Given the description of an element on the screen output the (x, y) to click on. 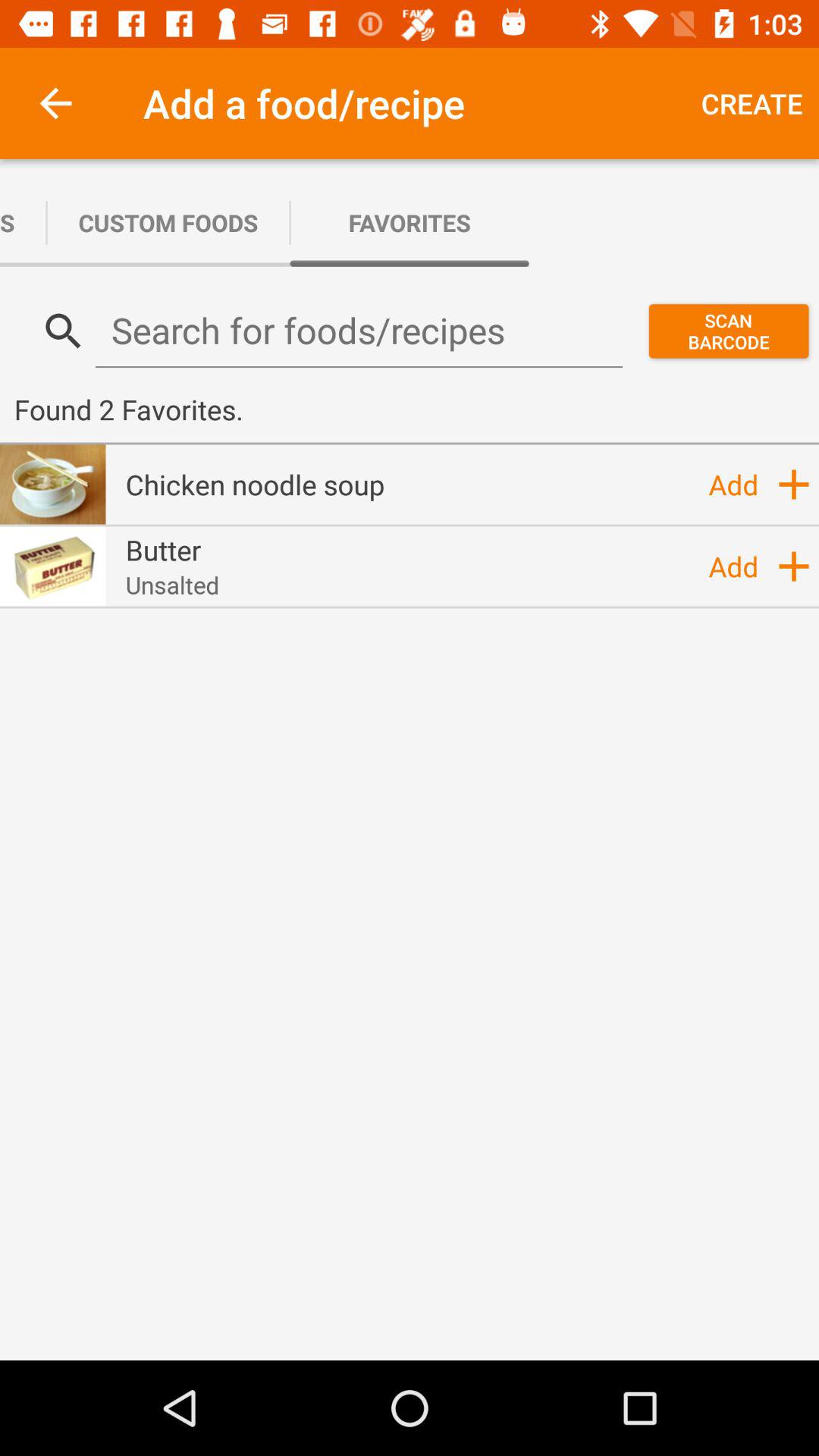
open icon next to the add a food item (752, 103)
